Given the description of an element on the screen output the (x, y) to click on. 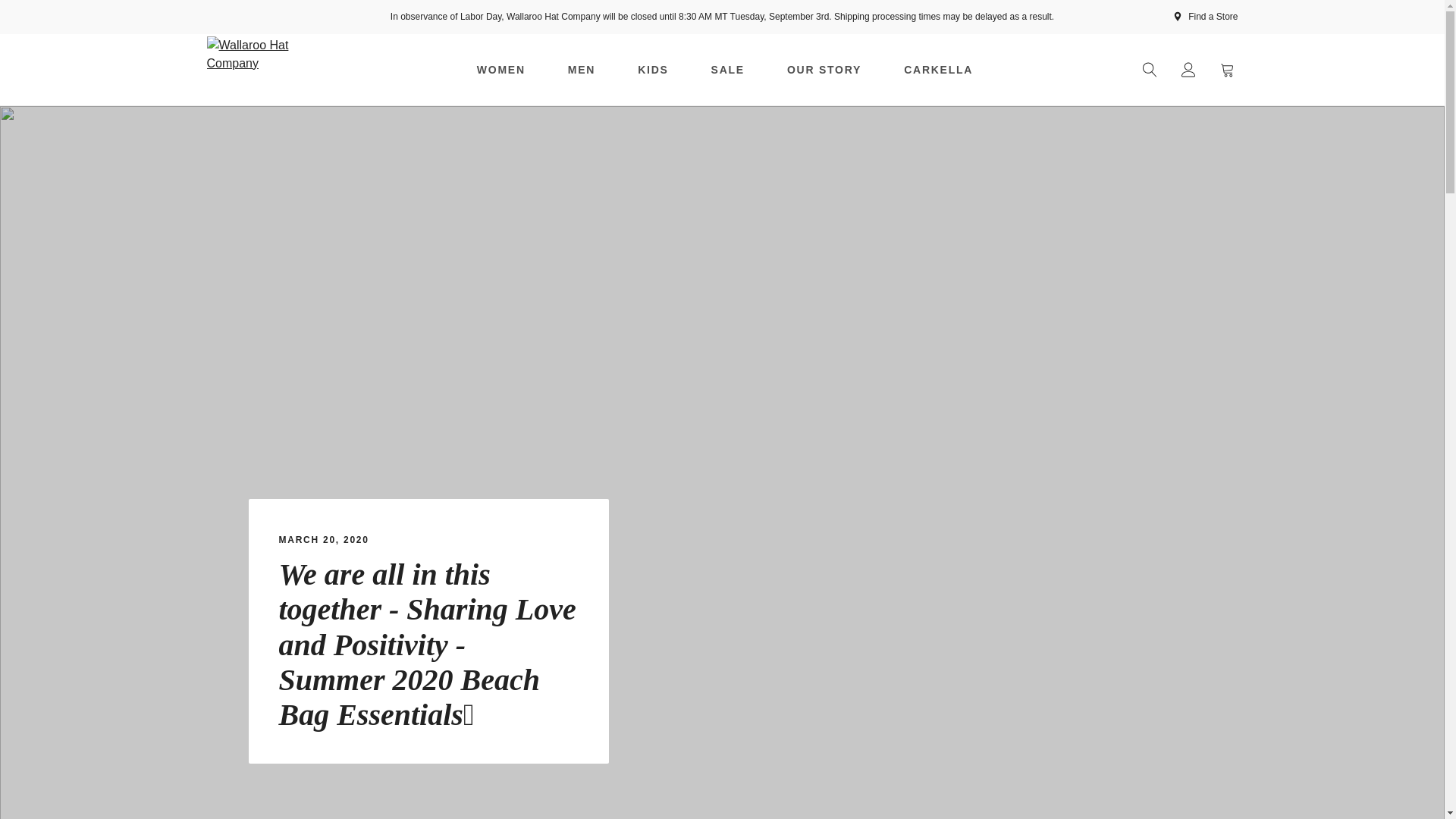
KIDS (651, 69)
WOMEN (501, 69)
MEN (581, 69)
Find a Store (1206, 16)
